Given the description of an element on the screen output the (x, y) to click on. 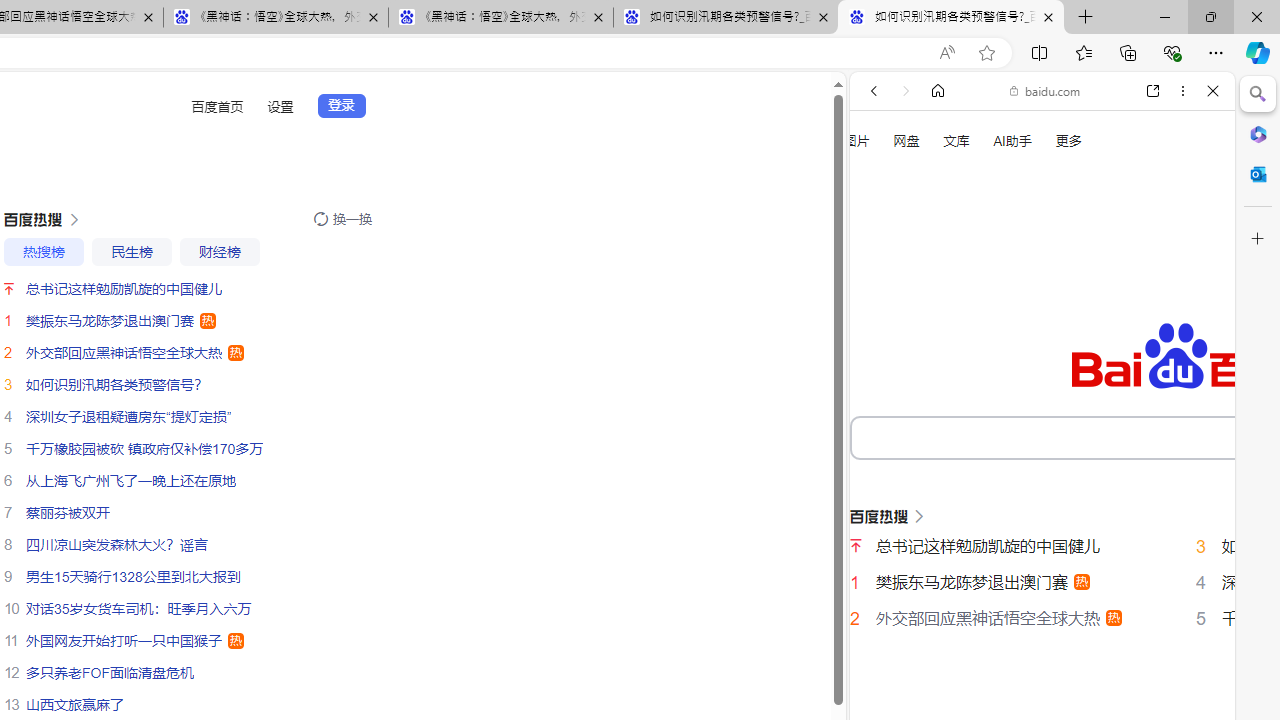
Search Filter, WEB (882, 339)
Class: b_serphb (1190, 339)
Forward (906, 91)
English (US) (1042, 579)
To get missing image descriptions, open the context menu. (882, 228)
